Given the description of an element on the screen output the (x, y) to click on. 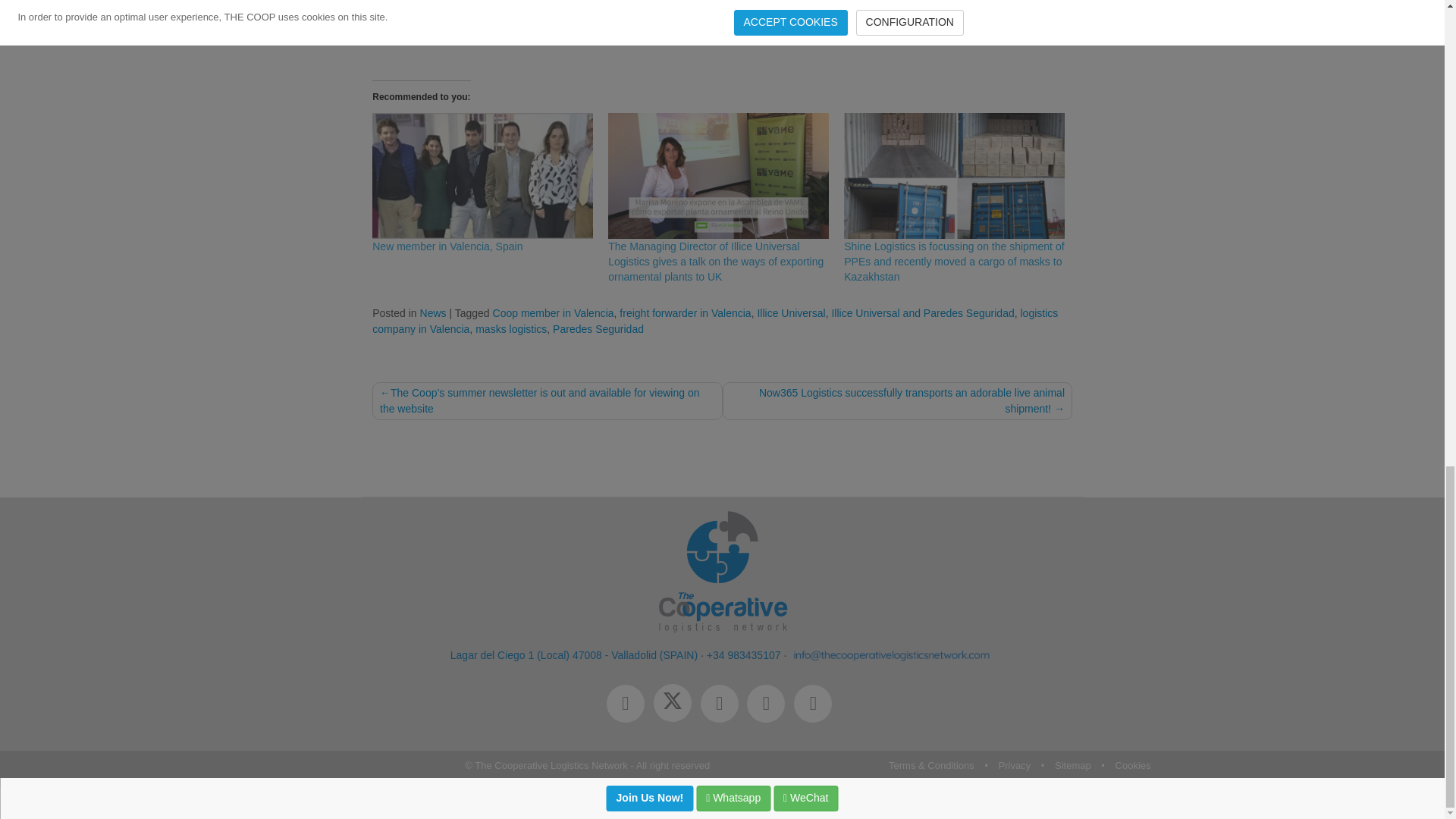
Coop member in Valencia (553, 313)
New member in Valencia, Spain (482, 176)
Facebook (630, 705)
Instagram (724, 705)
News (433, 313)
Linkedin (769, 705)
Twitter (676, 705)
